Given the description of an element on the screen output the (x, y) to click on. 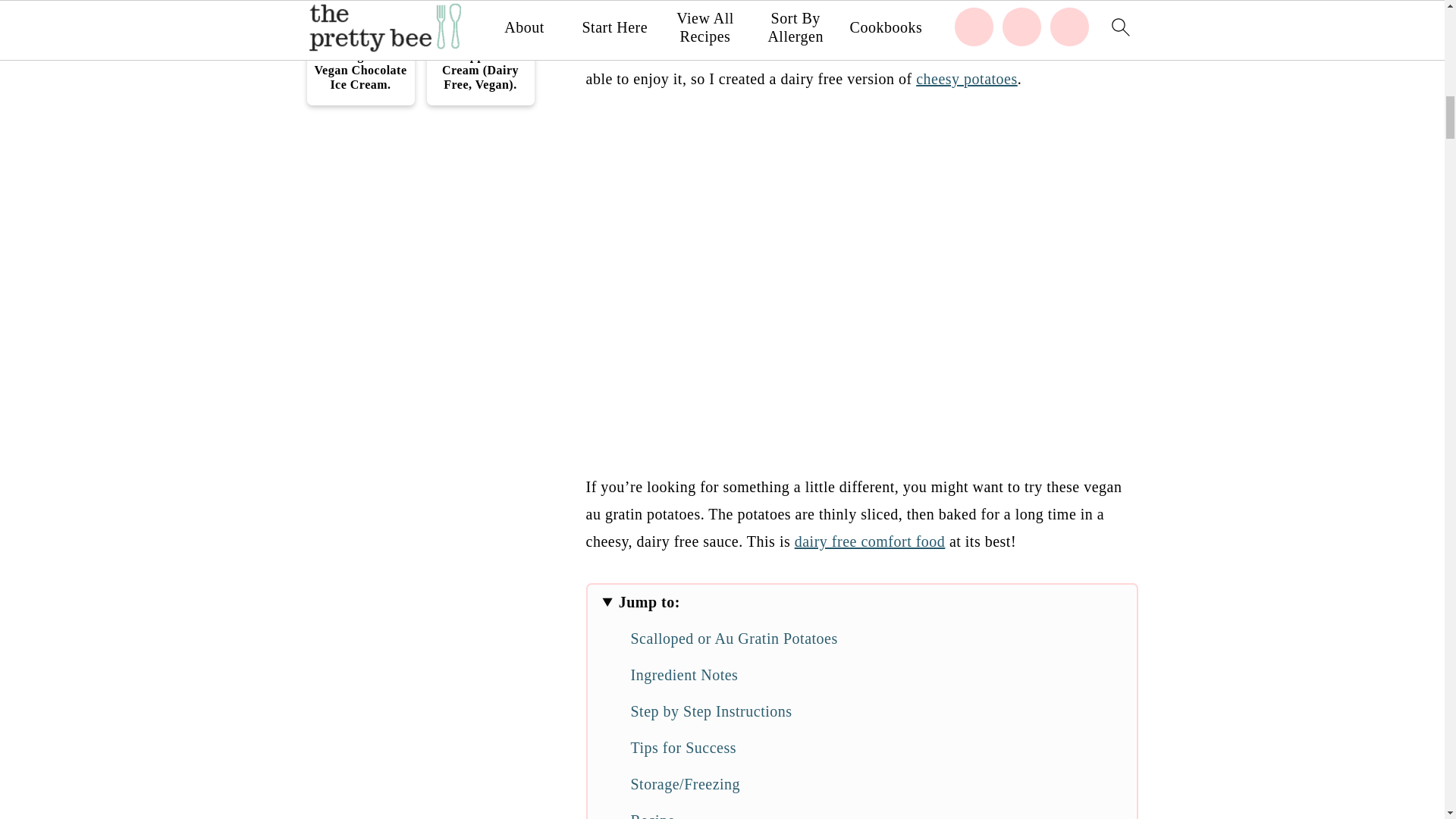
cheesy potatoes (966, 78)
